Given the description of an element on the screen output the (x, y) to click on. 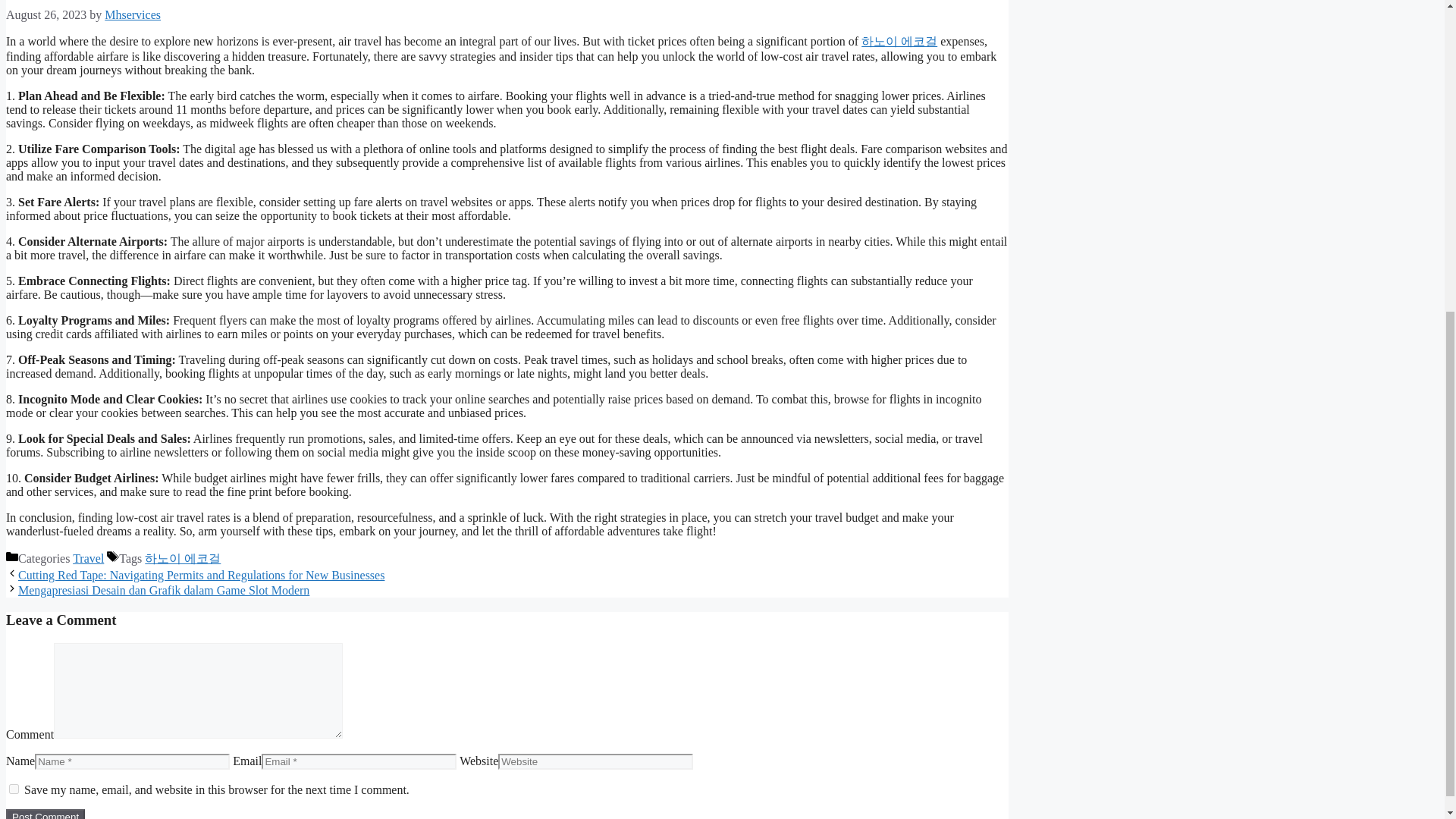
yes (13, 788)
View all posts by Mhservices (132, 14)
Travel (87, 558)
Mhservices (132, 14)
Mengapresiasi Desain dan Grafik dalam Game Slot Modern (162, 590)
